Given the description of an element on the screen output the (x, y) to click on. 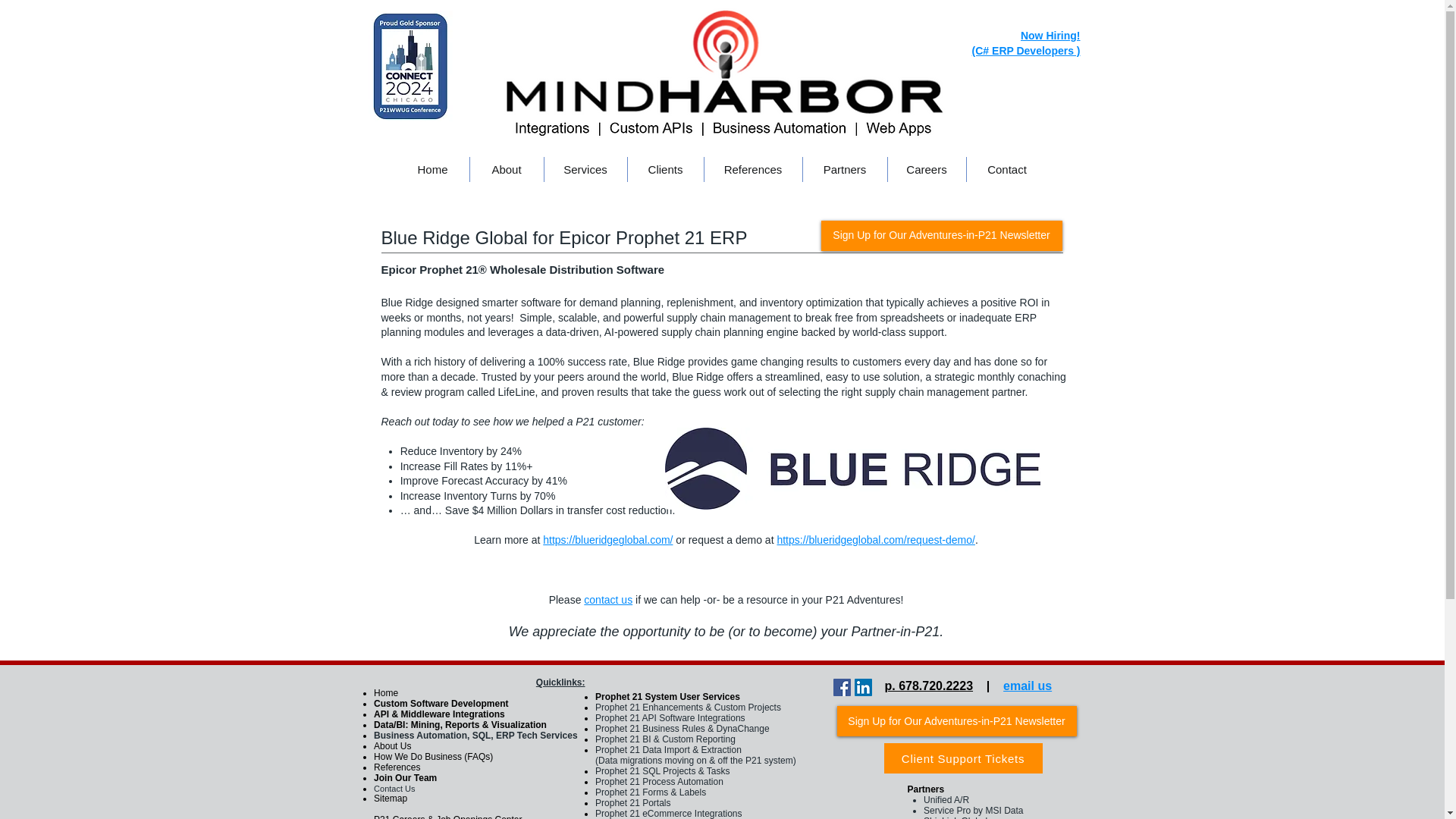
Contact Us (394, 788)
contact us (607, 599)
Business Automation, SQL, ERP Tech Services (476, 735)
References (752, 169)
References (397, 767)
Custom Software Development (441, 703)
Home (432, 169)
Home (385, 692)
About (506, 169)
Clients (665, 169)
Careers (925, 169)
Join Our Team (405, 777)
email us (1027, 685)
Services (585, 169)
Partners (844, 169)
